Given the description of an element on the screen output the (x, y) to click on. 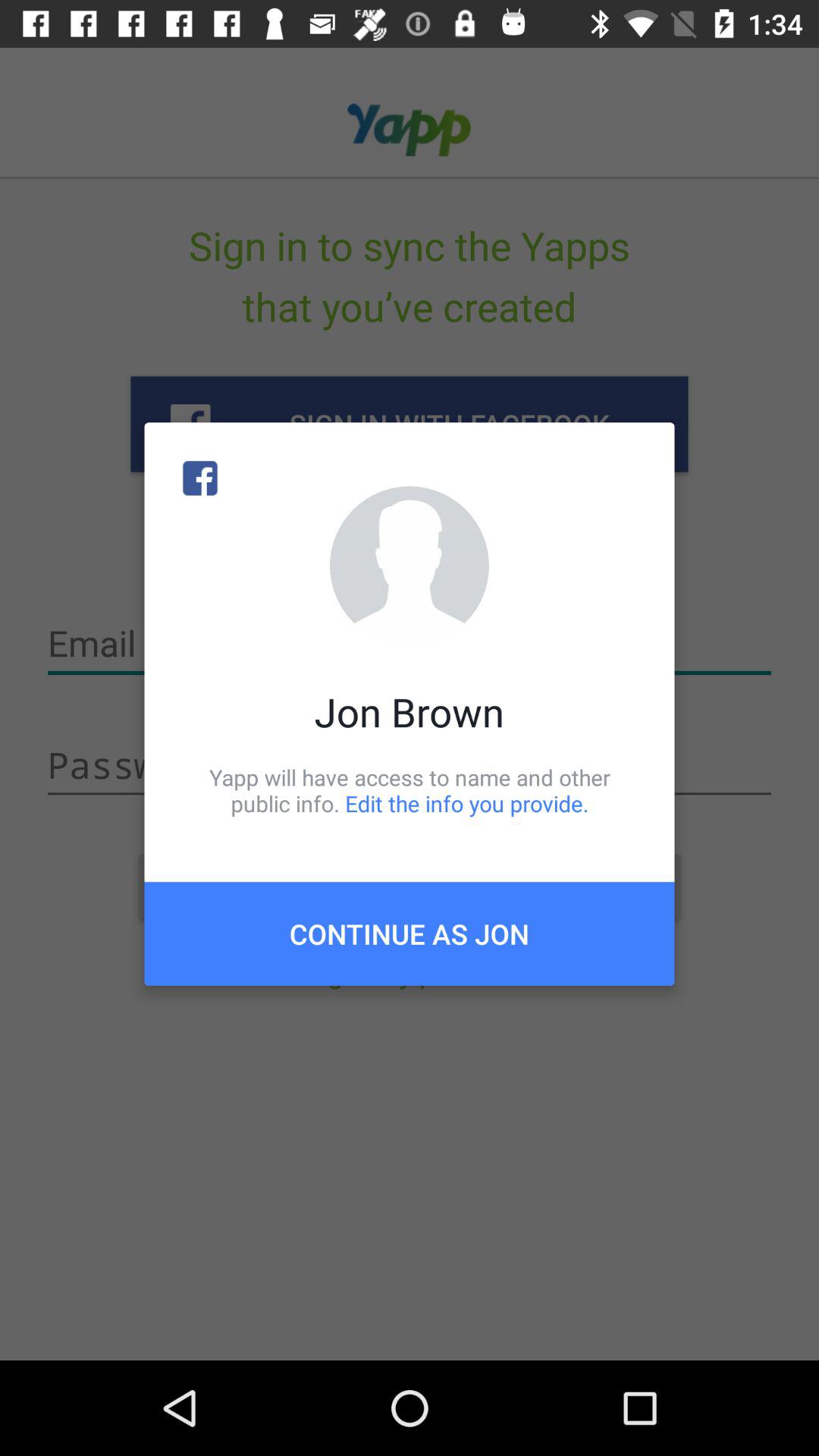
choose item above the continue as jon icon (409, 790)
